Given the description of an element on the screen output the (x, y) to click on. 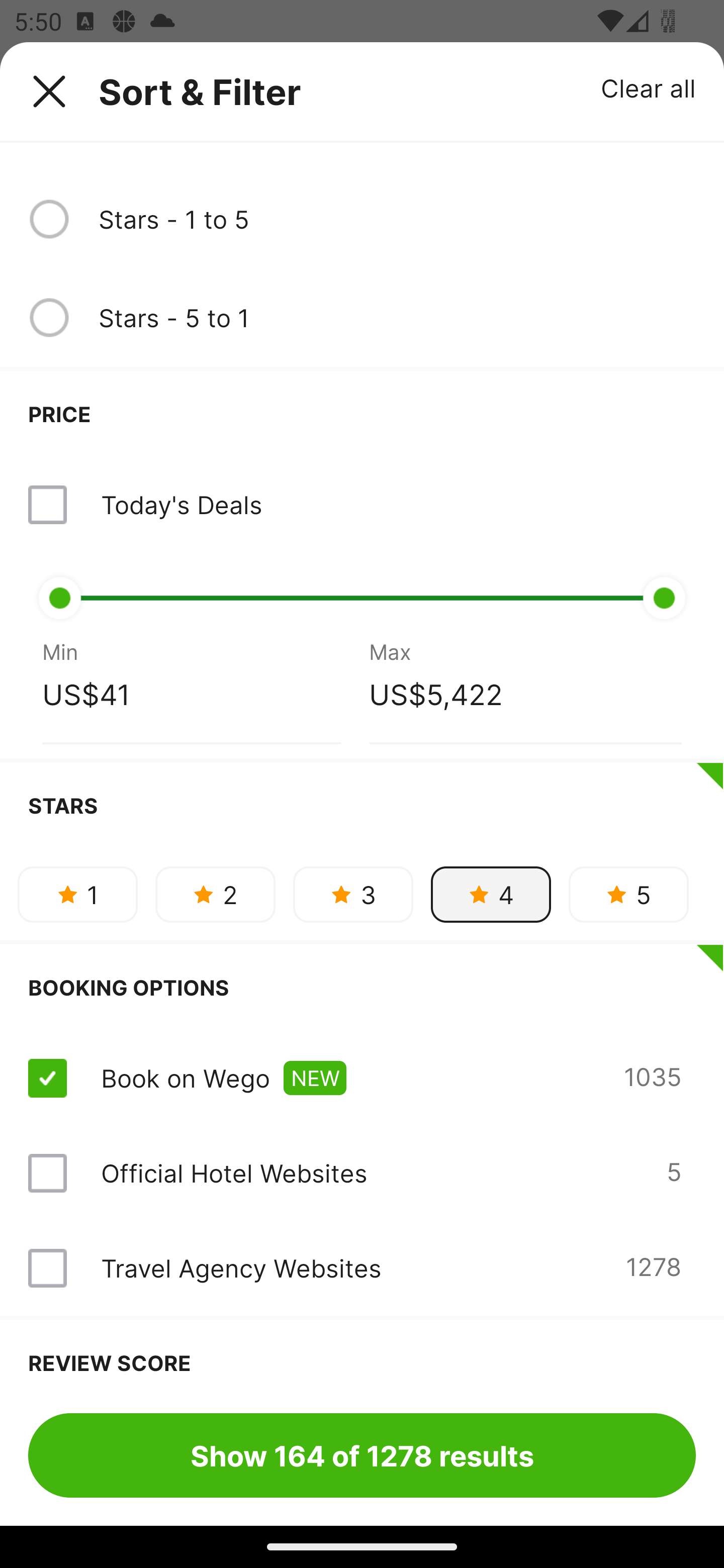
Clear all (648, 87)
Stars - 1 to 5 (396, 219)
Stars - 5 to 1 (396, 317)
Today's Deals (362, 504)
Today's Deals (181, 504)
1 (77, 894)
2 (214, 894)
3 (352, 894)
4 (491, 894)
5 (627, 894)
Book on Wego NEW 1035 (362, 1077)
Book on Wego (184, 1077)
Official Hotel Websites 5 (362, 1173)
Official Hotel Websites (233, 1172)
Travel Agency Websites 1278 (362, 1268)
Travel Agency Websites (240, 1267)
Show 164 of 1278 results (361, 1454)
